Given the description of an element on the screen output the (x, y) to click on. 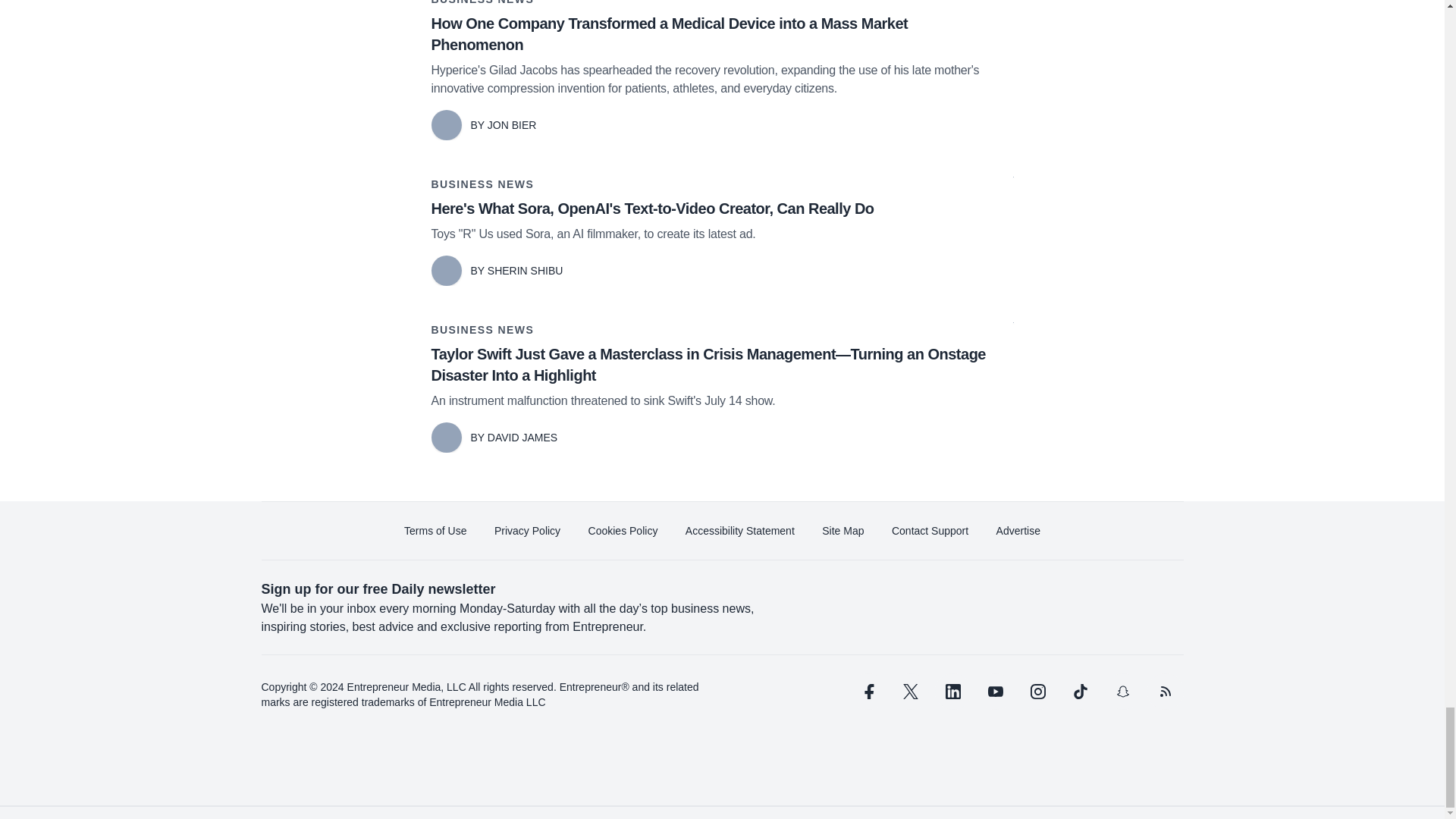
facebook (866, 691)
youtube (994, 691)
snapchat (1121, 691)
instagram (1037, 691)
twitter (909, 691)
tiktok (1079, 691)
linkedin (952, 691)
